Given the description of an element on the screen output the (x, y) to click on. 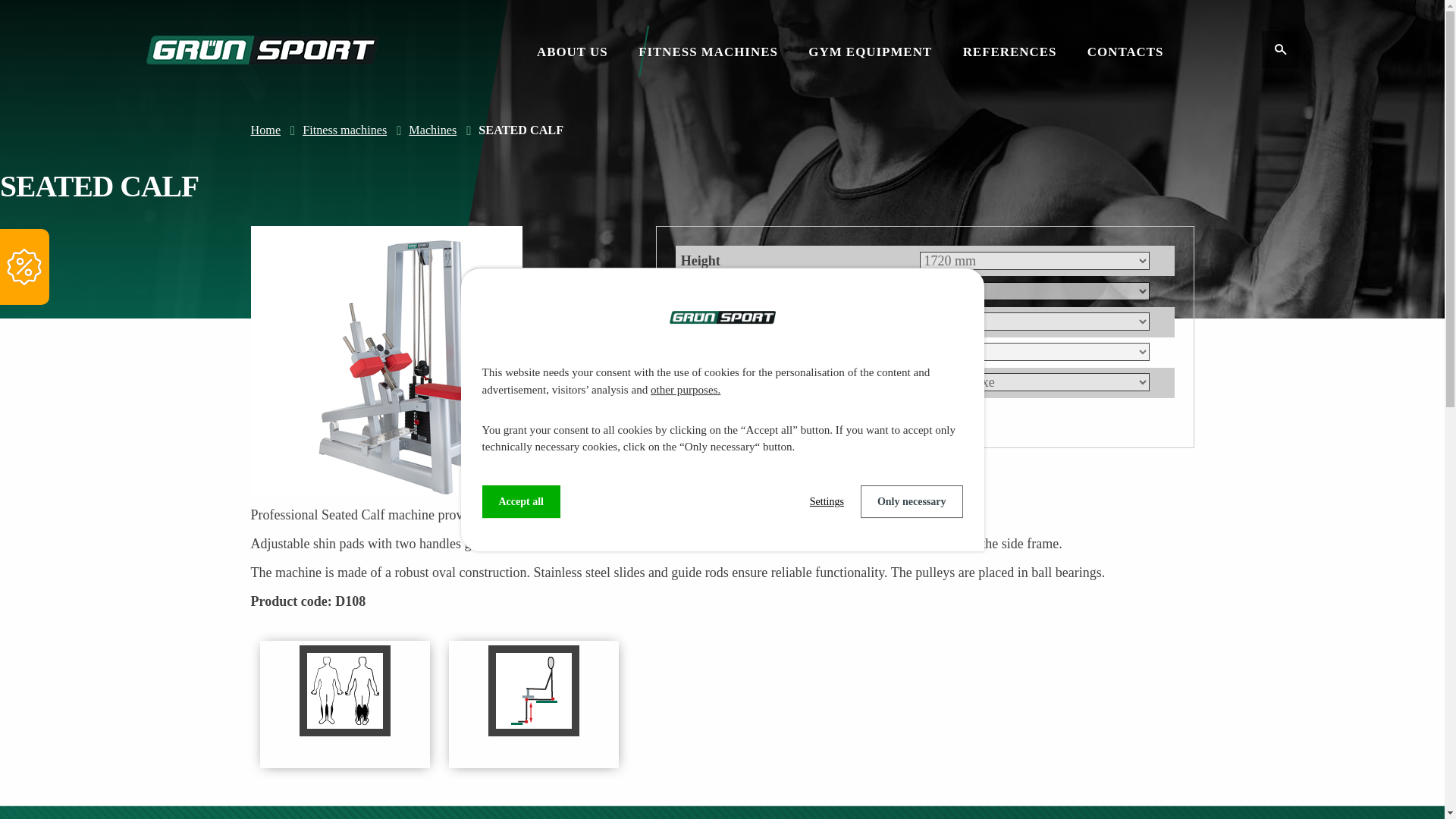
Accept all (520, 501)
Only necessary (911, 501)
CONTACTS (1125, 51)
ABOUT US (572, 51)
GYM EQUIPMENT (869, 51)
Machines (433, 130)
Fitness machines (344, 130)
REFERENCES (1009, 51)
other purposes. (685, 389)
Ikona (1280, 49)
FITNESS MACHINES (708, 51)
Home (265, 130)
Settings (826, 501)
